Given the description of an element on the screen output the (x, y) to click on. 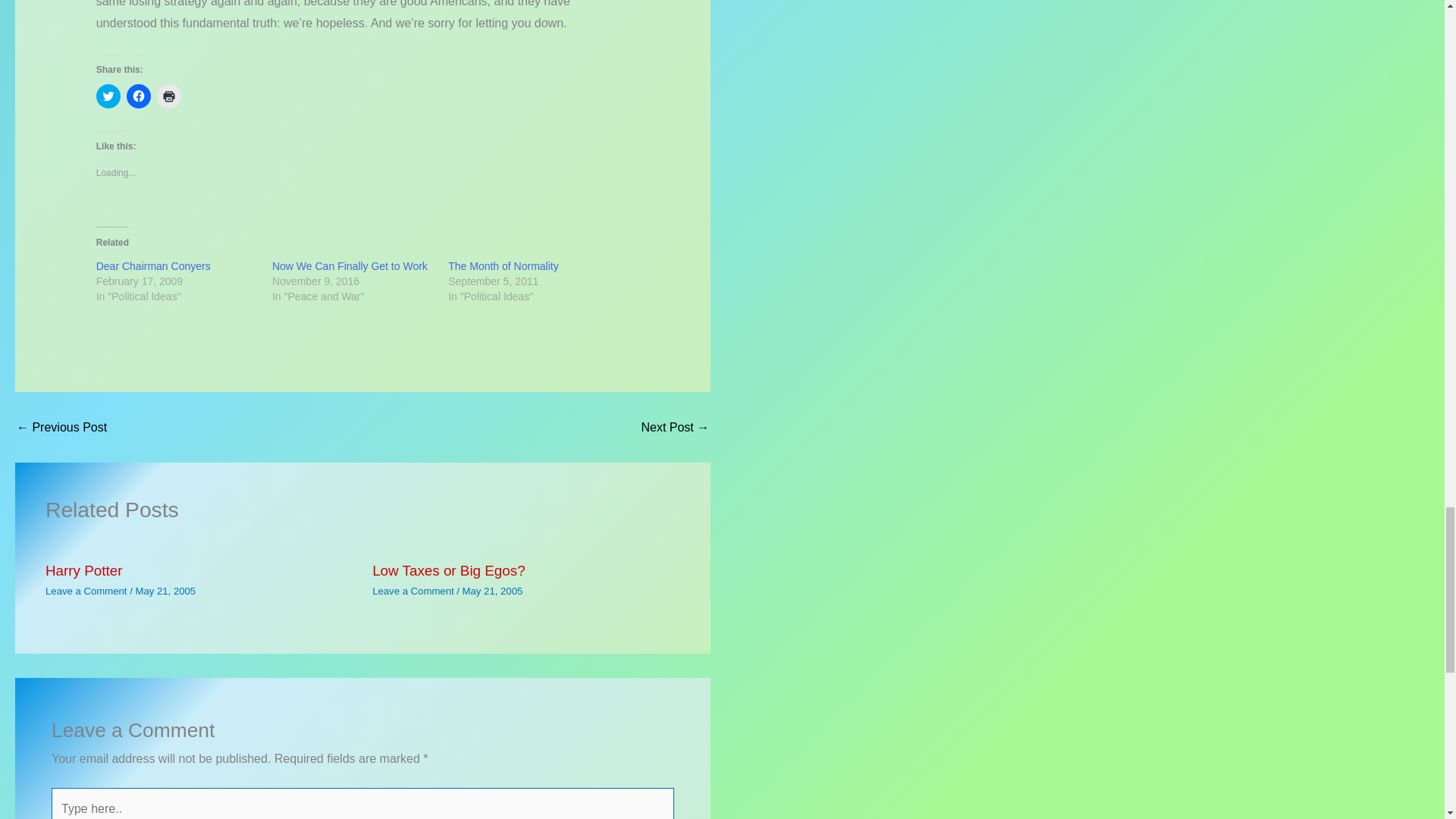
The Month of Normality (503, 265)
Wishful Thinking and What it Does to Us (61, 427)
Communicating Regional Sustainability (674, 427)
Click to print (168, 96)
Click to share on Facebook (138, 96)
Dear Chairman Conyers (153, 265)
Click to share on Twitter (108, 96)
Dear Chairman Conyers (153, 265)
Now We Can Finally Get to Work (350, 265)
The Month of Normality (503, 265)
